Given the description of an element on the screen output the (x, y) to click on. 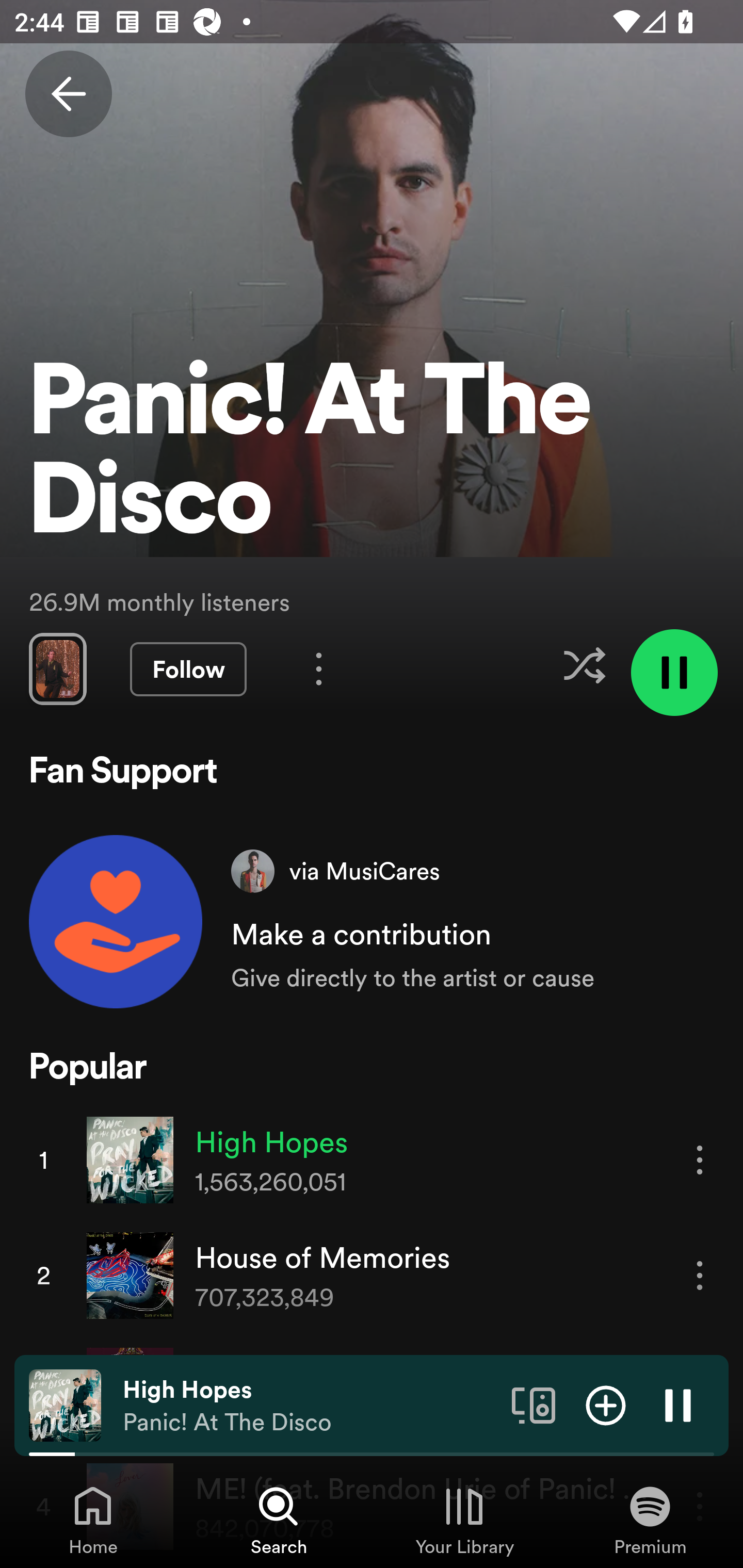
Back (68, 93)
Enable shuffle for this artist (583, 665)
Swipe through previews of tracks from this artist. (57, 668)
More options for artist Panic! At The Disco (318, 668)
Pause artist (674, 672)
Follow (188, 669)
More options for song High Hopes (699, 1159)
More options for song House of Memories (699, 1275)
High Hopes Panic! At The Disco (309, 1405)
The cover art of the currently playing track (64, 1404)
Connect to a device. Opens the devices menu (533, 1404)
Add item (605, 1404)
Pause (677, 1404)
Home, Tab 1 of 4 Home Home (92, 1519)
Search, Tab 2 of 4 Search Search (278, 1519)
Your Library, Tab 3 of 4 Your Library Your Library (464, 1519)
Premium, Tab 4 of 4 Premium Premium (650, 1519)
